Given the description of an element on the screen output the (x, y) to click on. 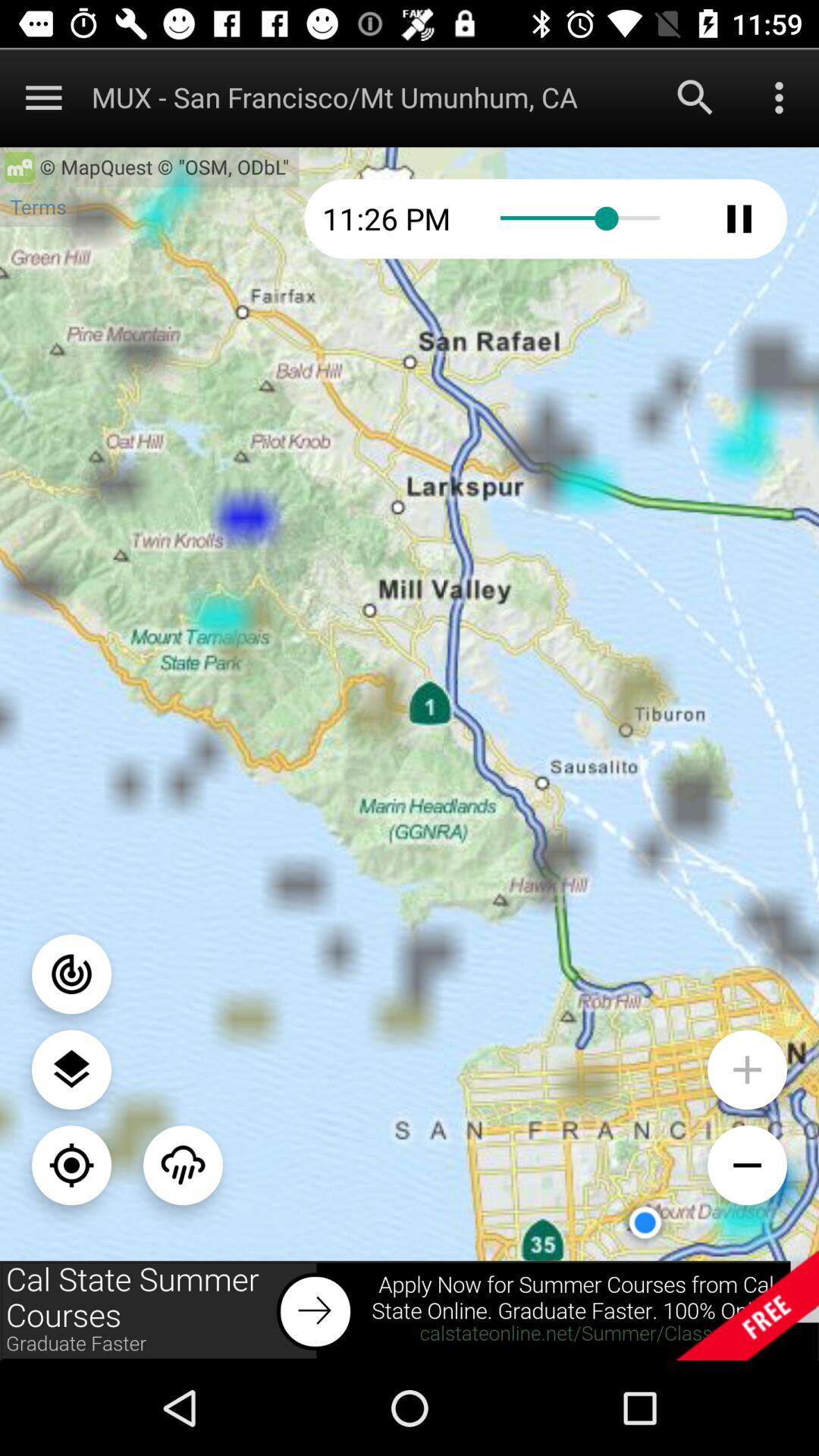
open menu (779, 97)
